Given the description of an element on the screen output the (x, y) to click on. 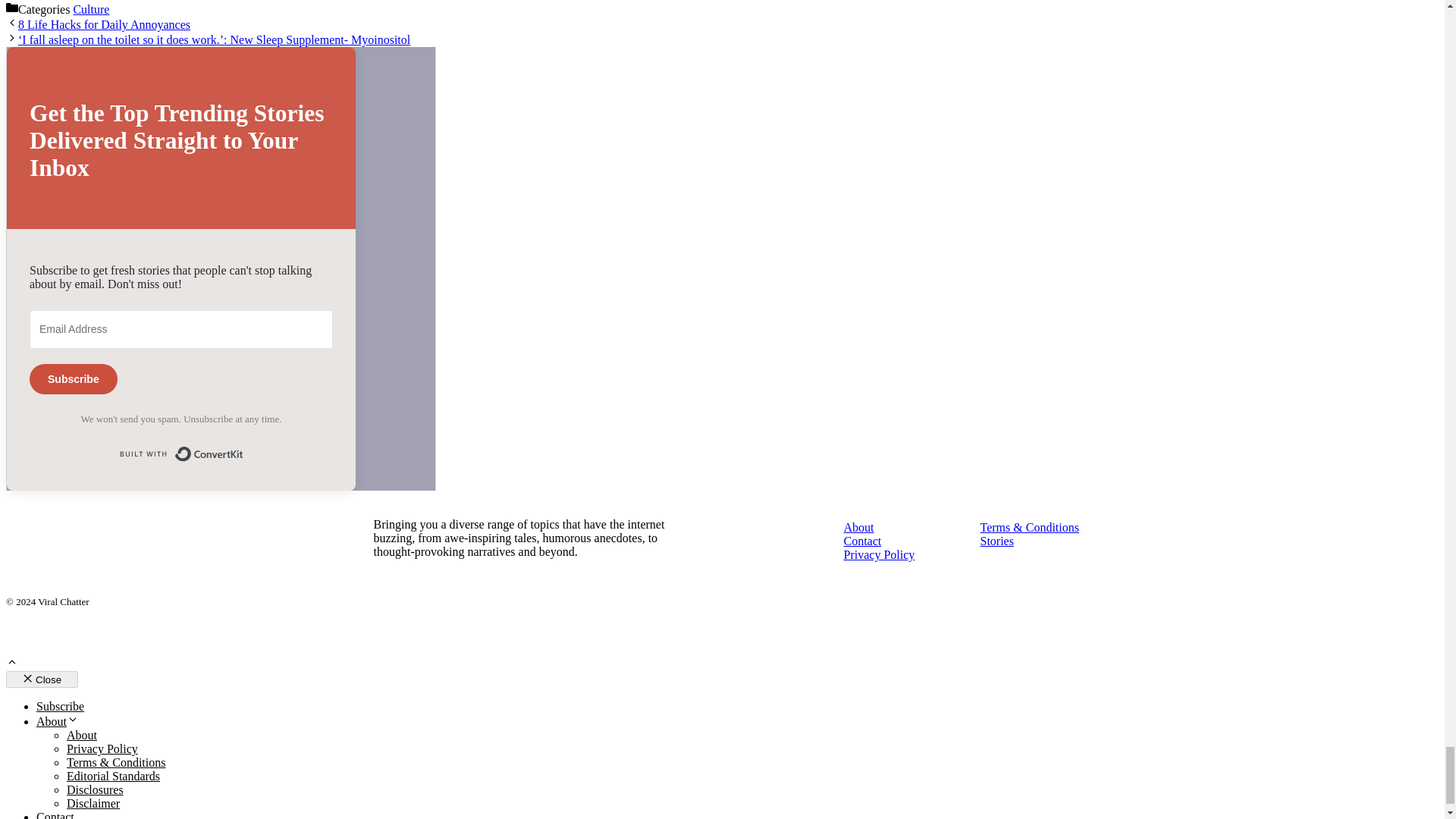
Scroll back to top (11, 663)
